Given the description of an element on the screen output the (x, y) to click on. 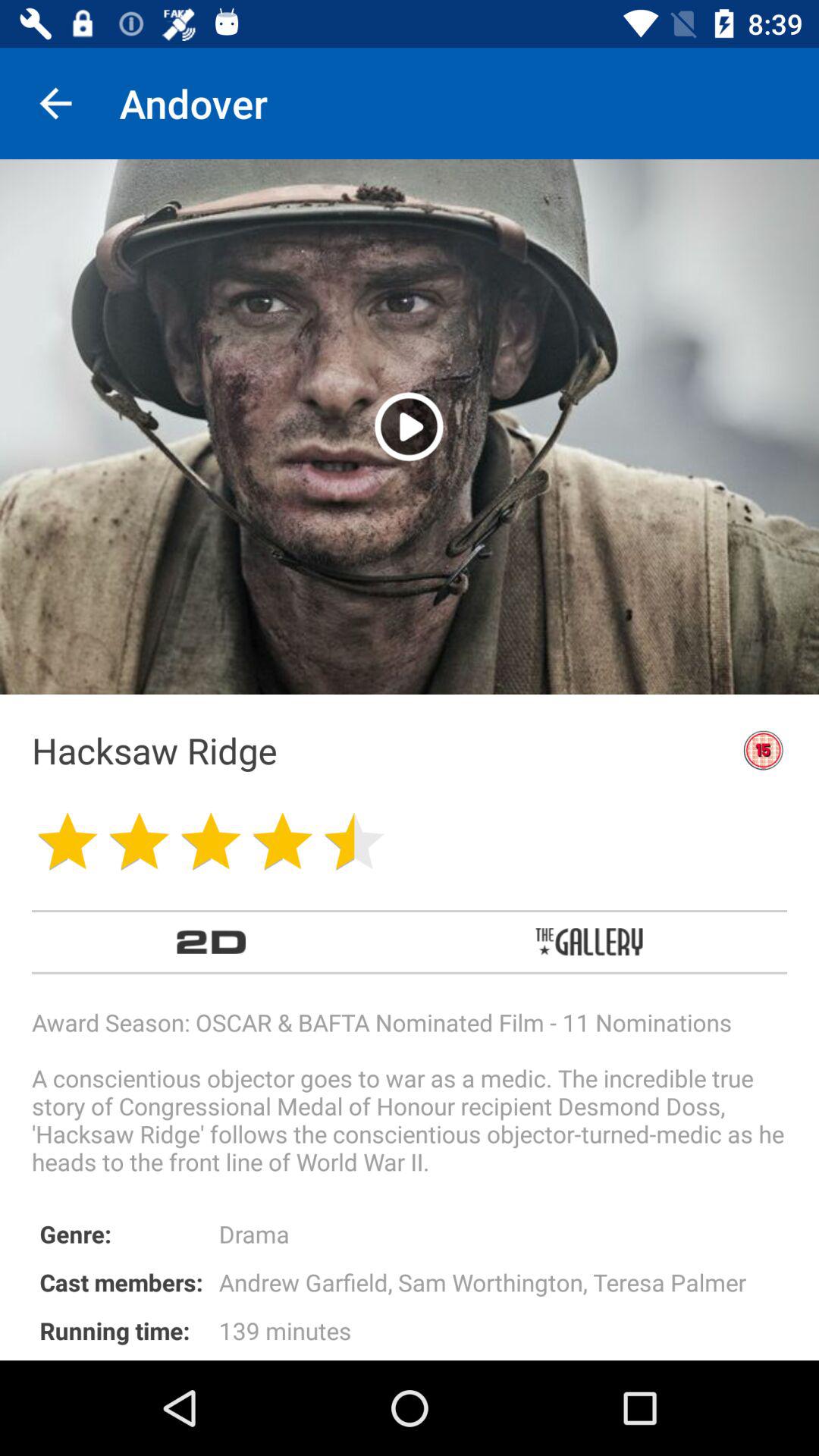
launch the app to the left of the andover item (55, 103)
